Given the description of an element on the screen output the (x, y) to click on. 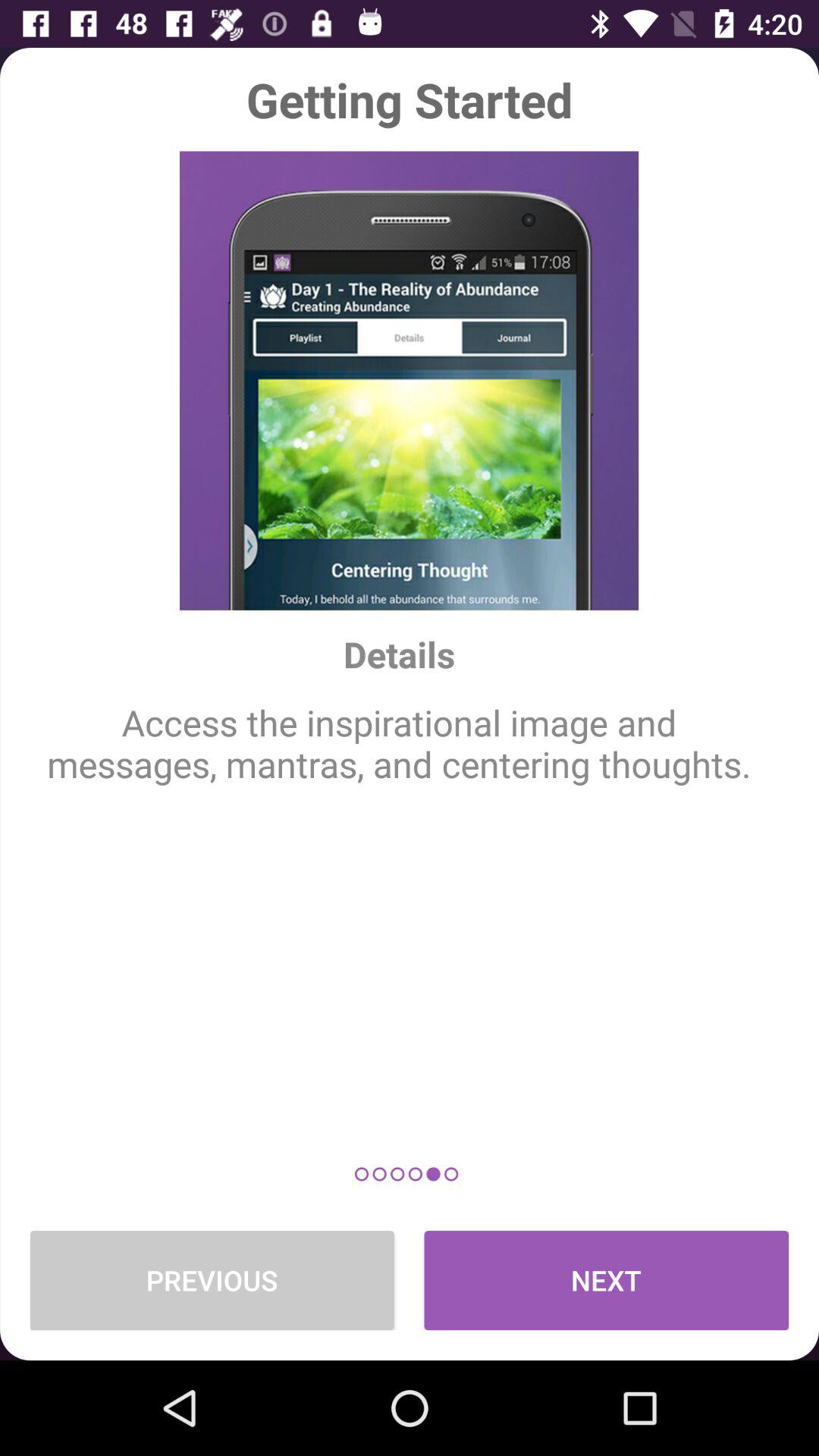
flip until previous (212, 1280)
